Given the description of an element on the screen output the (x, y) to click on. 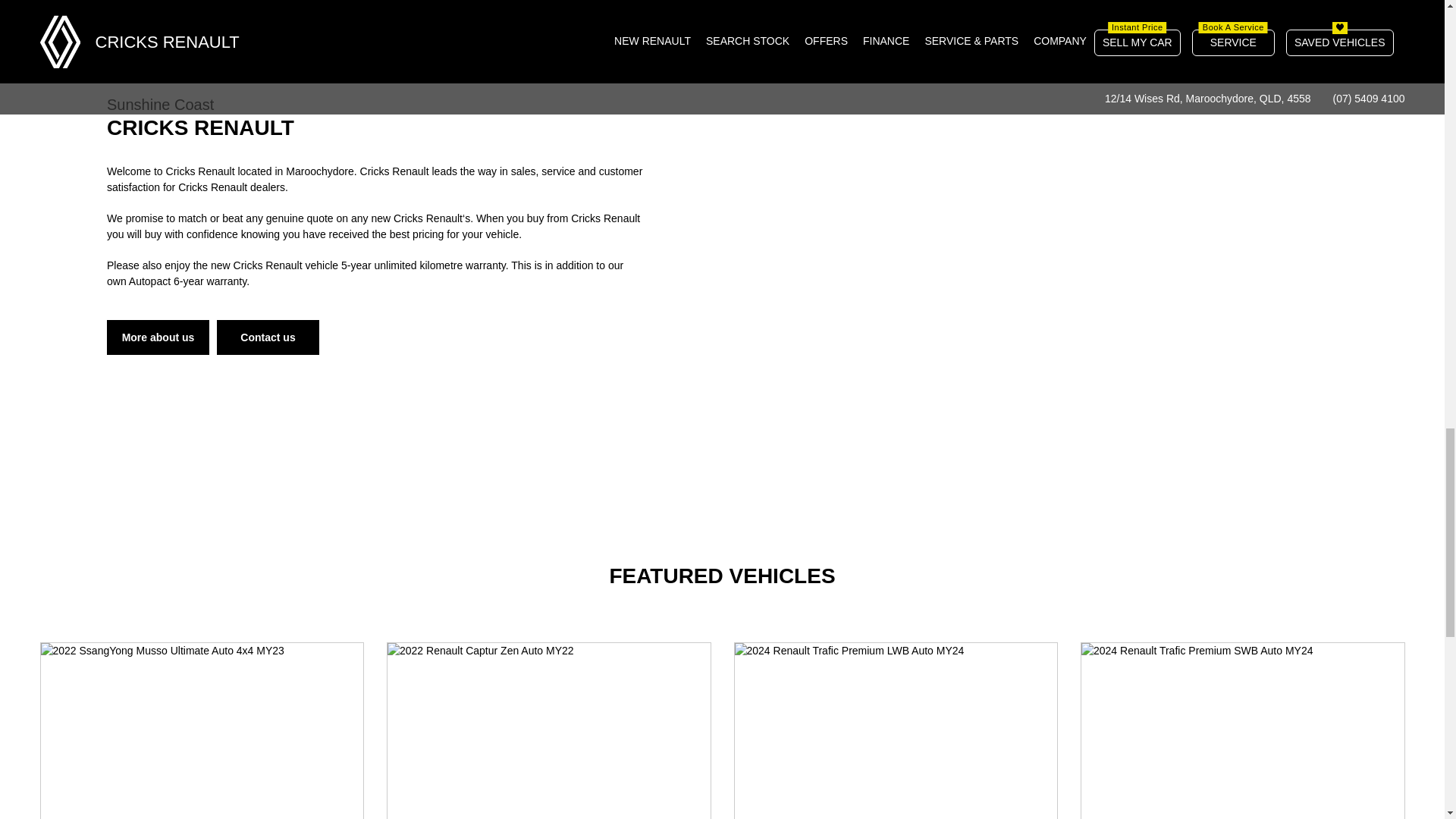
2022 Renault Captur Zen Auto MY22 (548, 730)
2024 Renault Trafic Premium SWB Auto MY24 (1243, 730)
2022 SsangYong Musso Ultimate Auto 4x4 MY23 (202, 730)
2024 Renault Trafic Premium LWB Auto MY24 (895, 730)
